Given the description of an element on the screen output the (x, y) to click on. 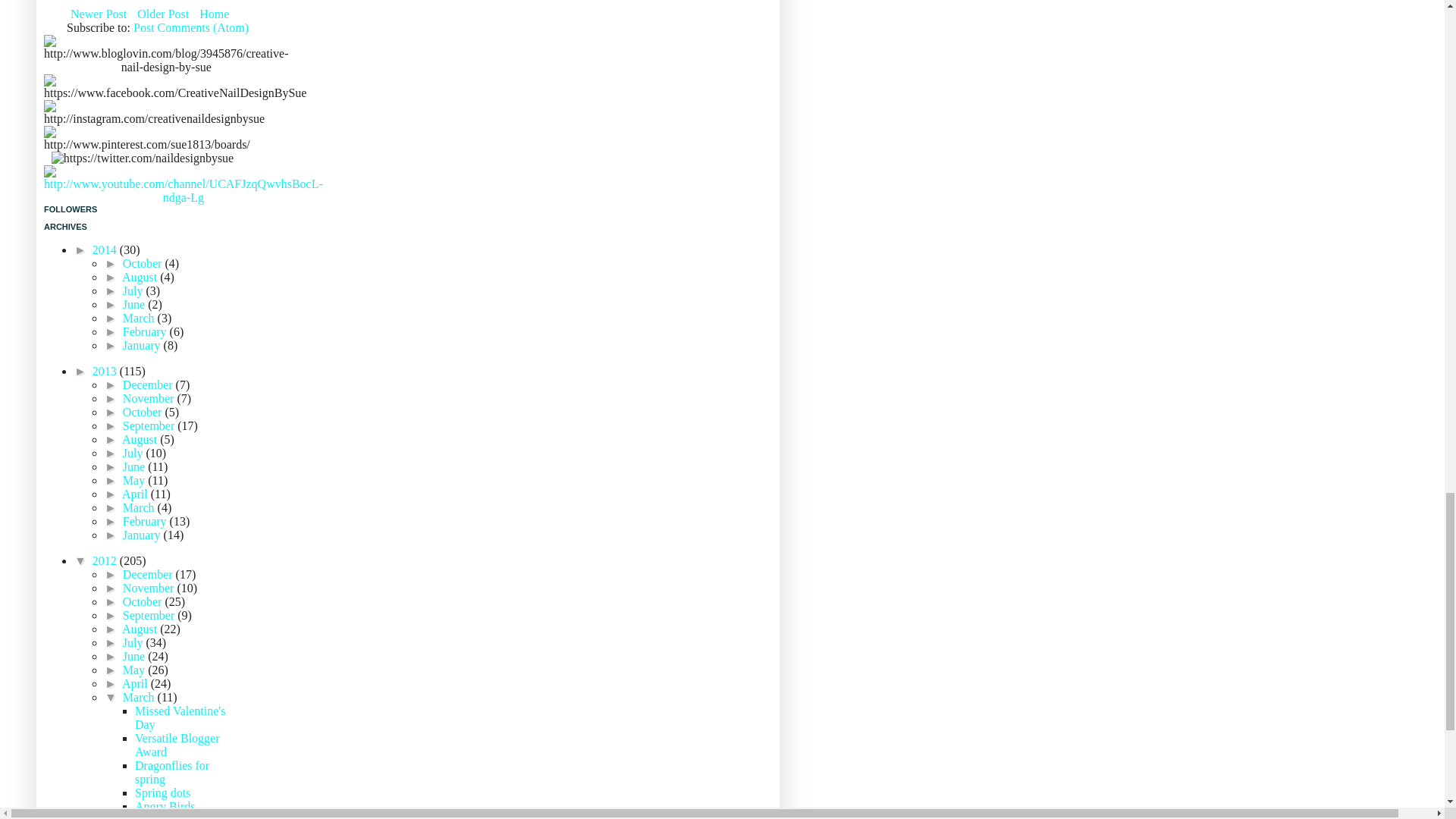
Older Post (162, 14)
July (134, 290)
Newer Post (98, 14)
August (141, 277)
Older Post (162, 14)
October (143, 263)
2014 (106, 249)
Newer Post (98, 14)
Home (213, 14)
